Given the description of an element on the screen output the (x, y) to click on. 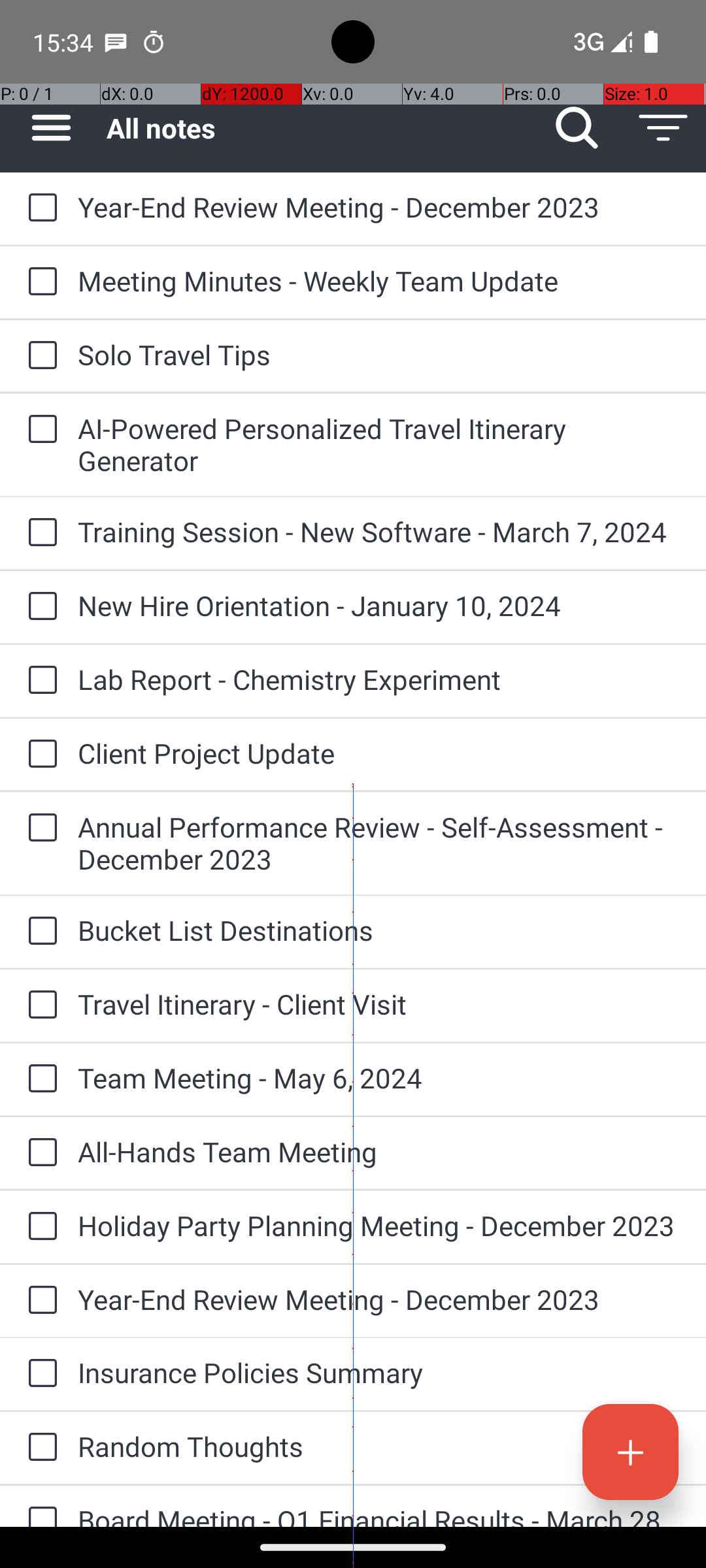
to-do: Year-End Review Meeting - December 2023 Element type: android.widget.CheckBox (38, 208)
Year-End Review Meeting - December 2023 Element type: android.widget.TextView (378, 206)
to-do: Solo Travel Tips Element type: android.widget.CheckBox (38, 356)
Solo Travel Tips Element type: android.widget.TextView (378, 354)
to-do: AI-Powered Personalized Travel Itinerary Generator Element type: android.widget.CheckBox (38, 429)
AI-Powered Personalized Travel Itinerary Generator Element type: android.widget.TextView (378, 443)
to-do: Training Session - New Software - March 7, 2024 Element type: android.widget.CheckBox (38, 533)
Training Session - New Software - March 7, 2024 Element type: android.widget.TextView (378, 531)
to-do: Lab Report - Chemistry Experiment Element type: android.widget.CheckBox (38, 680)
Lab Report - Chemistry Experiment Element type: android.widget.TextView (378, 678)
to-do: Bucket List Destinations Element type: android.widget.CheckBox (38, 931)
Bucket List Destinations Element type: android.widget.TextView (378, 929)
to-do: Travel Itinerary - Client Visit Element type: android.widget.CheckBox (38, 1005)
Travel Itinerary - Client Visit Element type: android.widget.TextView (378, 1003)
to-do: Holiday Party Planning Meeting - December 2023 Element type: android.widget.CheckBox (38, 1227)
Holiday Party Planning Meeting - December 2023 Element type: android.widget.TextView (378, 1224)
to-do: Insurance Policies Summary Element type: android.widget.CheckBox (38, 1373)
